Given the description of an element on the screen output the (x, y) to click on. 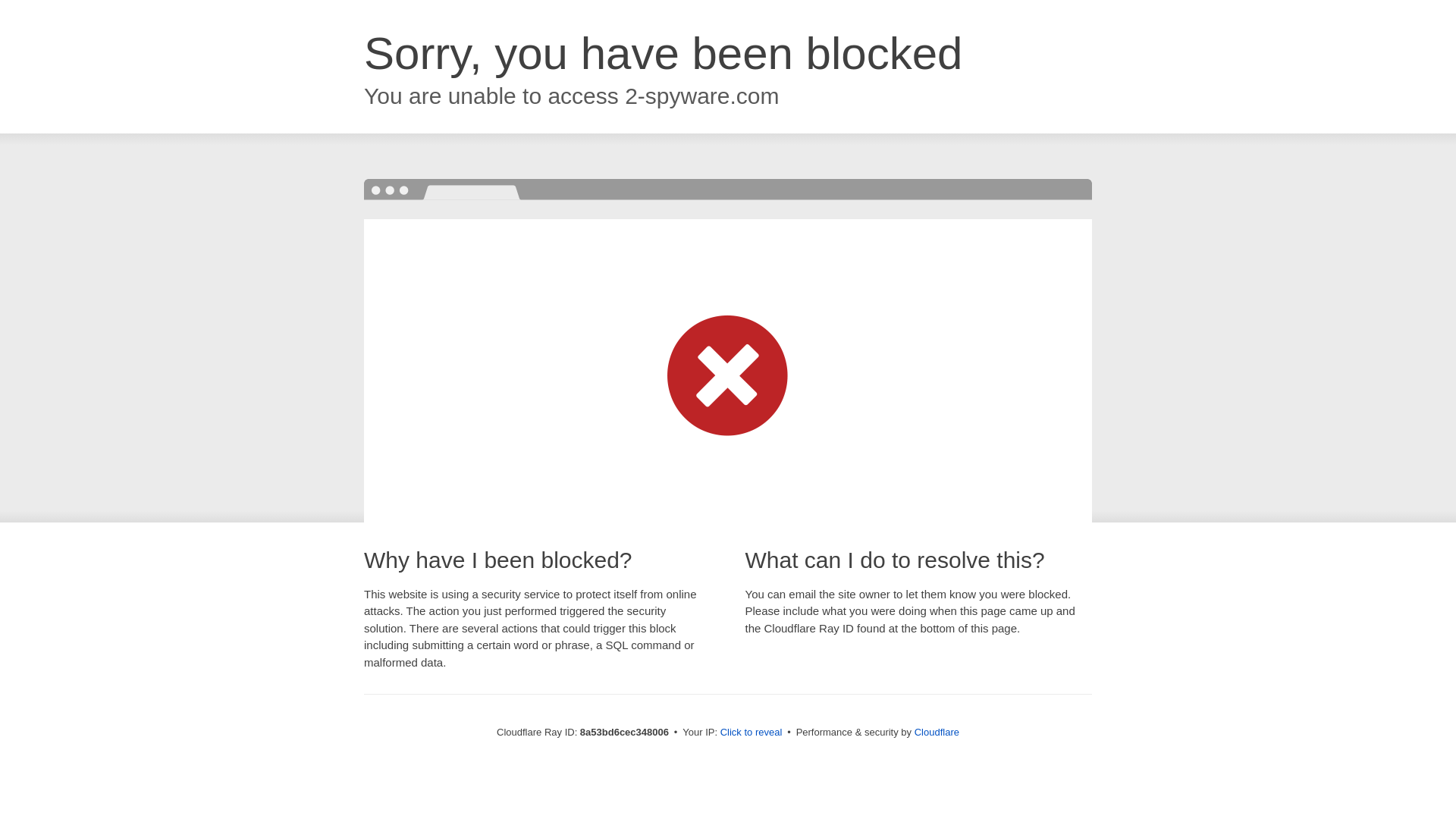
Cloudflare (936, 731)
Click to reveal (751, 732)
